Given the description of an element on the screen output the (x, y) to click on. 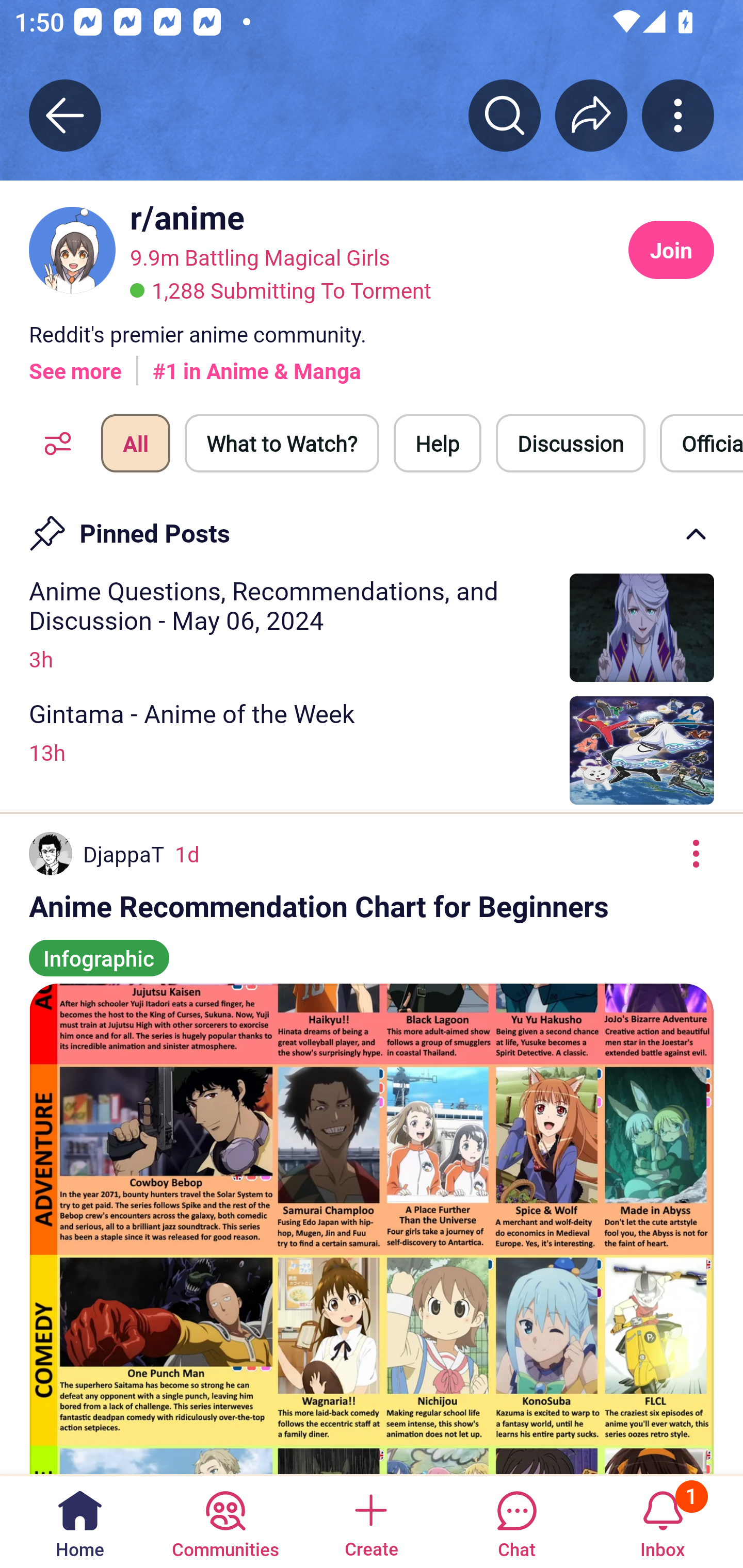
Back (64, 115)
Search r/﻿anime (504, 115)
Share r/﻿anime (591, 115)
More community actions (677, 115)
Feed Options (53, 442)
All (135, 442)
What to Watch? (281, 442)
Help (437, 442)
Discussion (570, 442)
Official Media (701, 442)
Pin Pinned Posts Caret (371, 526)
Gintama - Anime of the Week 13h Thumbnail (371, 750)
Infographic (98, 949)
Home (80, 1520)
Communities (225, 1520)
Create a post Create (370, 1520)
Chat (516, 1520)
Inbox, has 1 notification 1 Inbox (662, 1520)
